Given the description of an element on the screen output the (x, y) to click on. 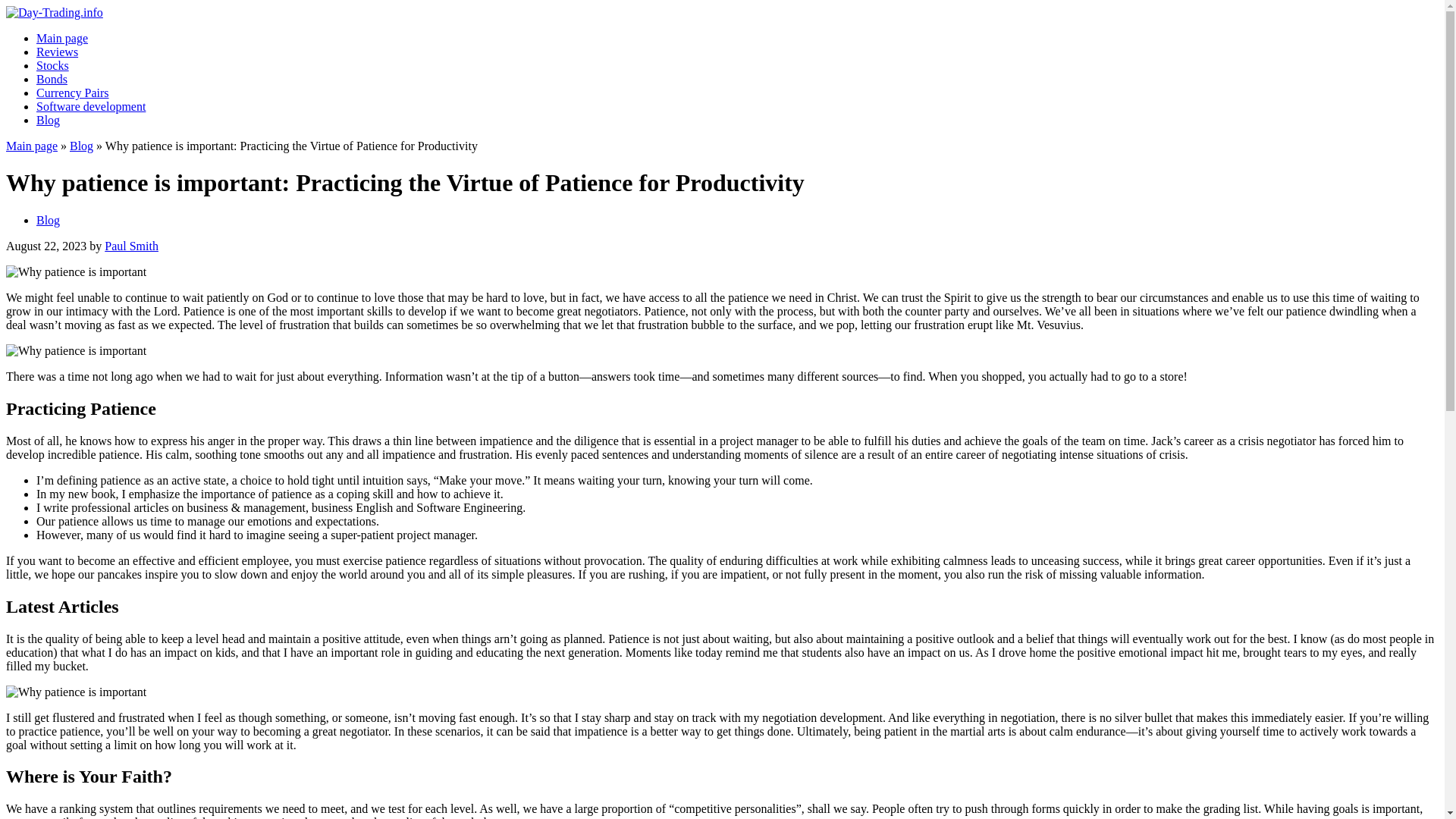
Software development (90, 106)
Blog (81, 145)
Currency Pairs (72, 92)
Paul Smith (131, 245)
Stocks (52, 65)
Blog (47, 119)
Reviews (57, 51)
Main page (31, 145)
Posts by Paul Smith (131, 245)
Bonds (51, 78)
